Given the description of an element on the screen output the (x, y) to click on. 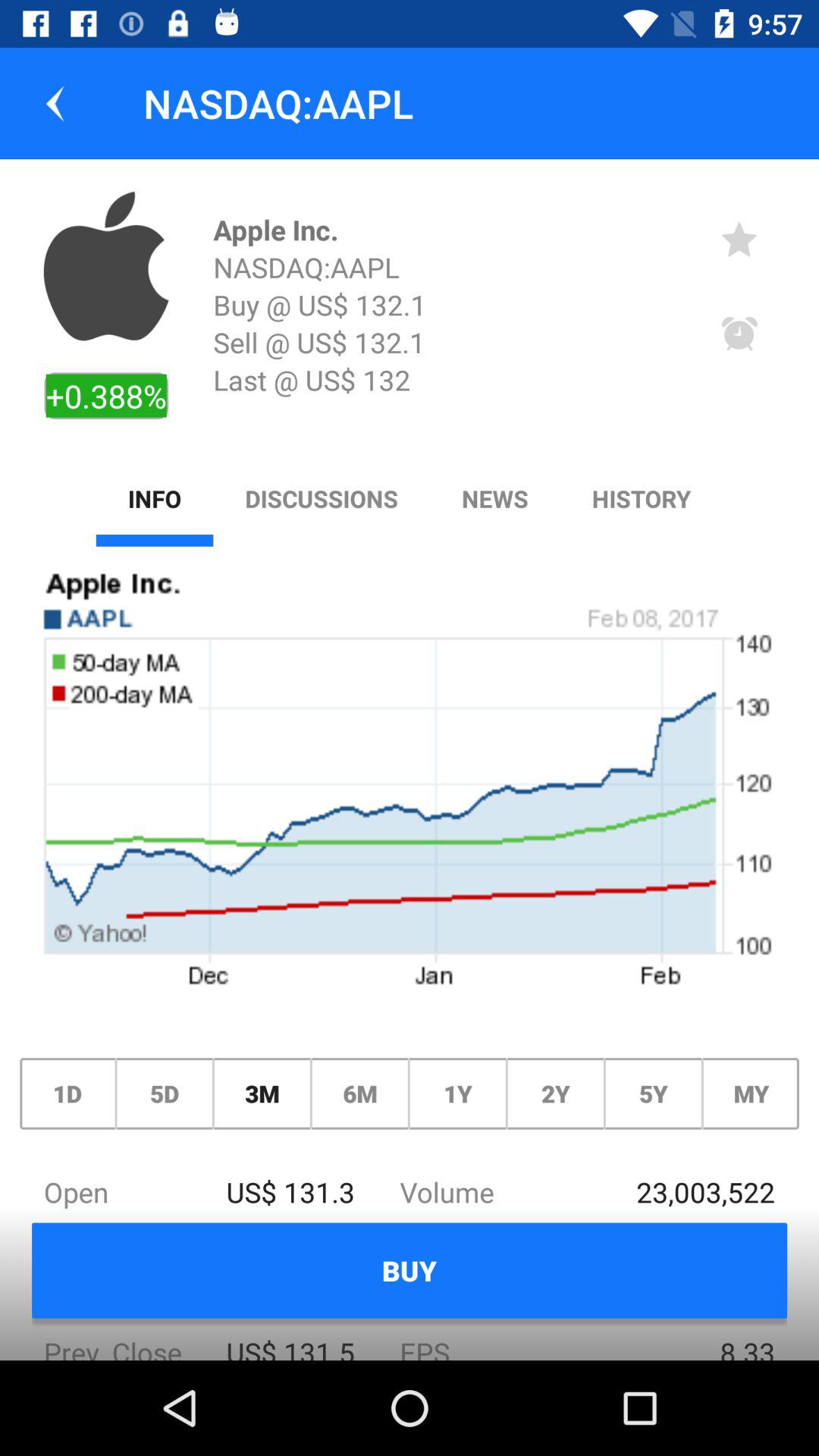
open the icon above 23,003,522 icon (751, 1093)
